Given the description of an element on the screen output the (x, y) to click on. 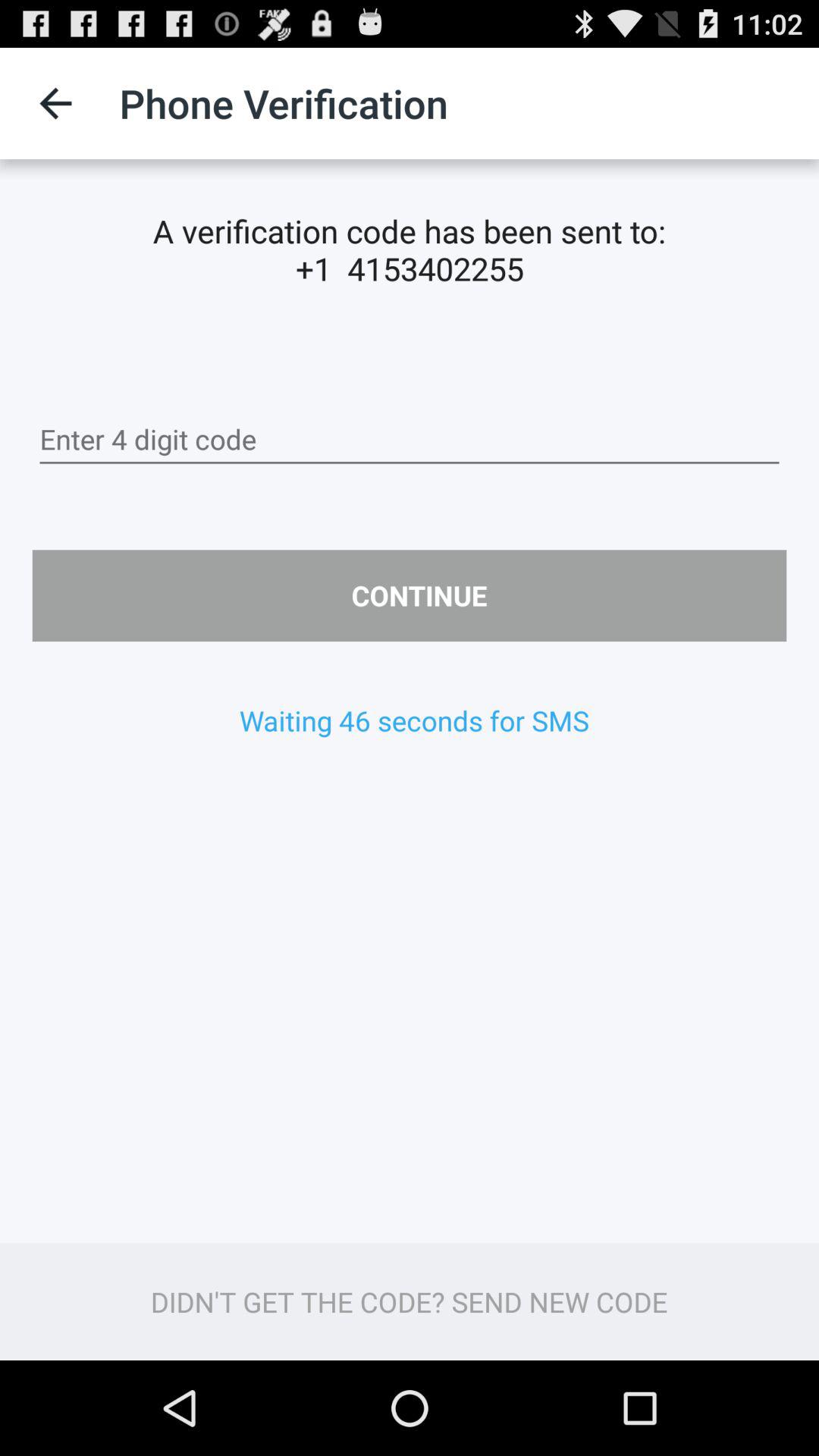
open the app to the left of the phone verification icon (55, 103)
